Given the description of an element on the screen output the (x, y) to click on. 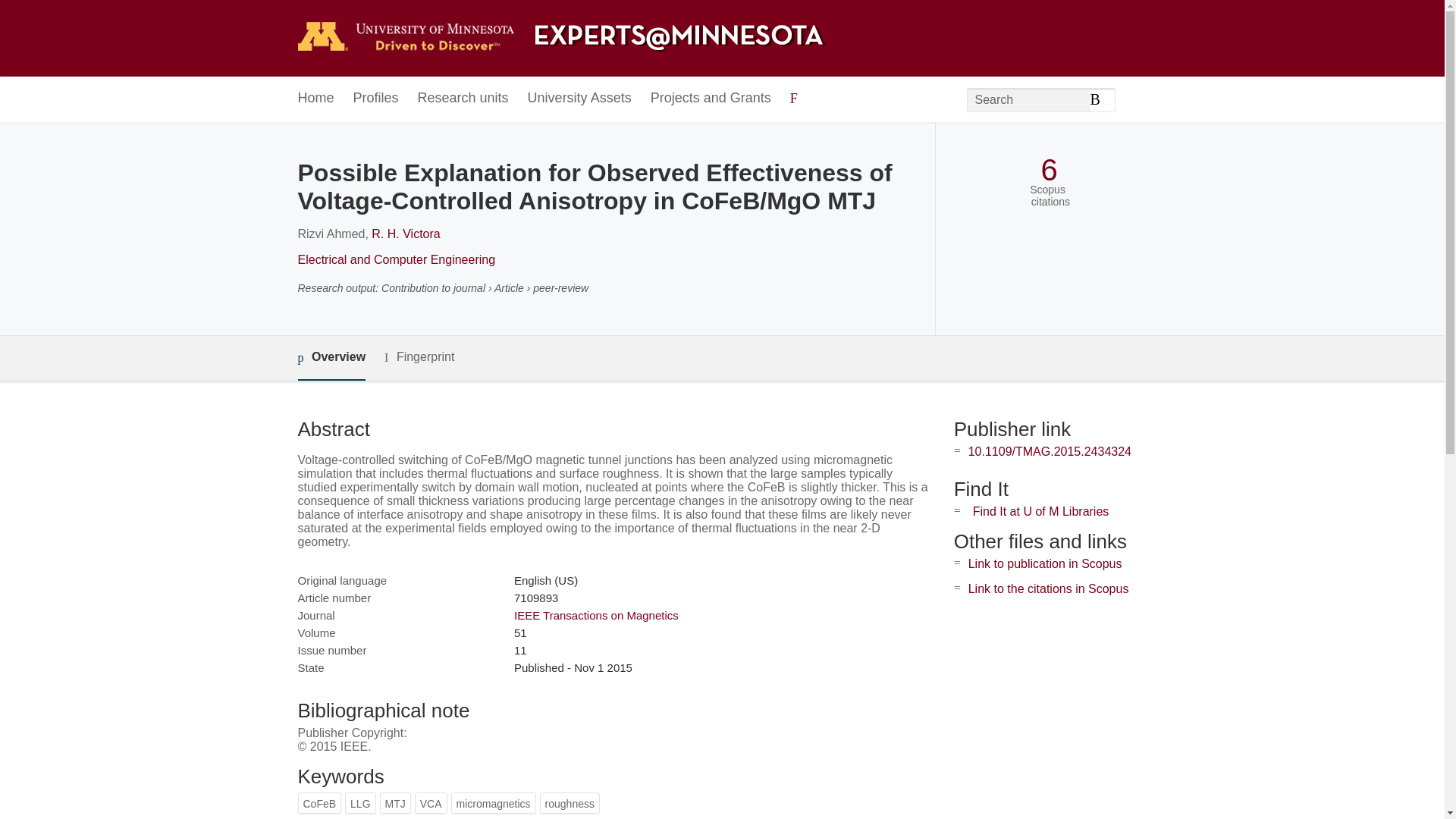
Electrical and Computer Engineering (396, 259)
Link to the citations in Scopus (1048, 588)
Projects and Grants (710, 98)
Find It at U of M Libraries (1040, 511)
Profiles (375, 98)
Fingerprint (419, 357)
Link to publication in Scopus (1045, 563)
Research units (462, 98)
IEEE Transactions on Magnetics (595, 615)
